Given the description of an element on the screen output the (x, y) to click on. 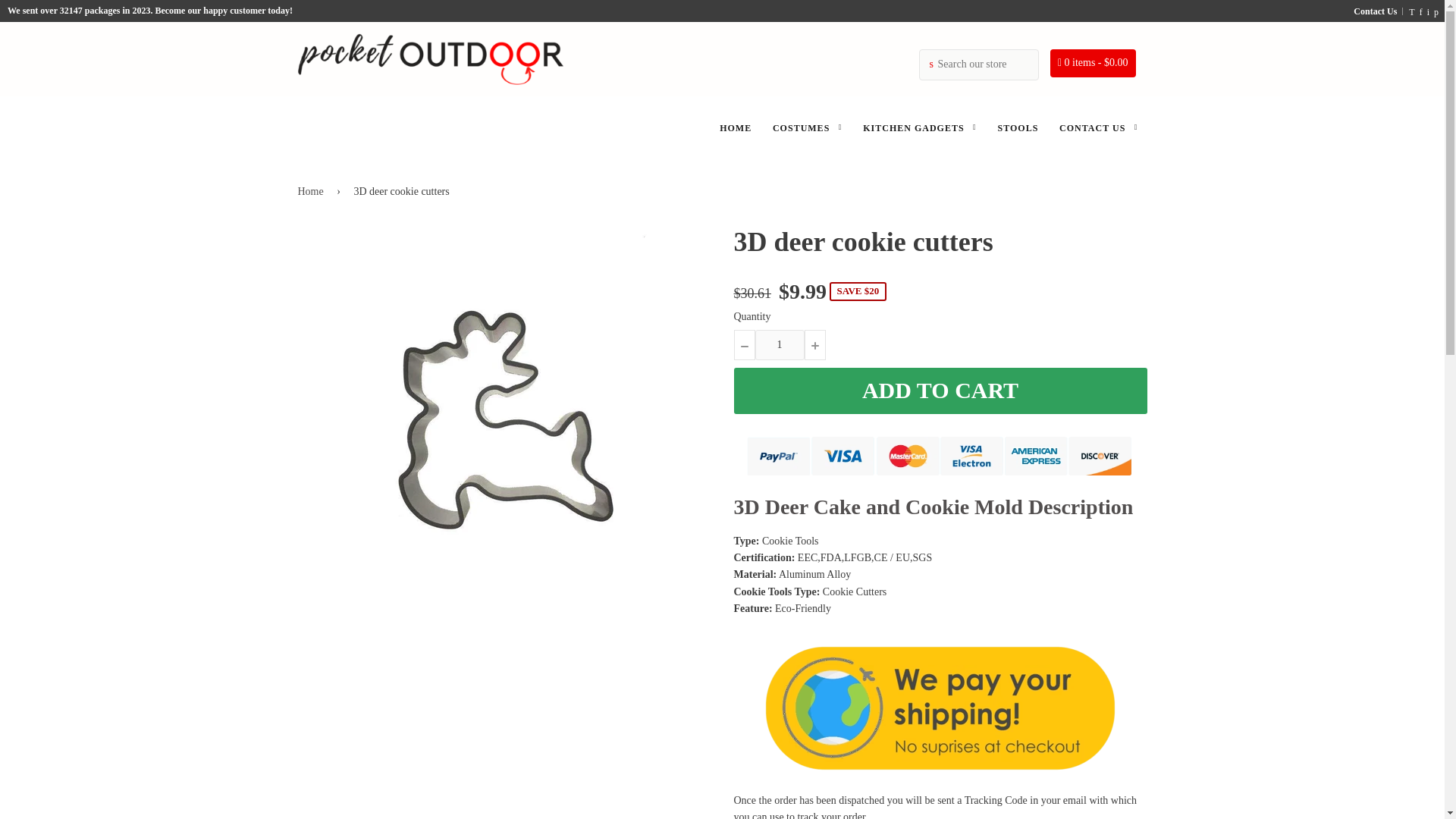
Back to the frontpage (313, 191)
1 (780, 345)
Contact Us (1375, 11)
EZ Cracker Egg Separator (178, 774)
